Given the description of an element on the screen output the (x, y) to click on. 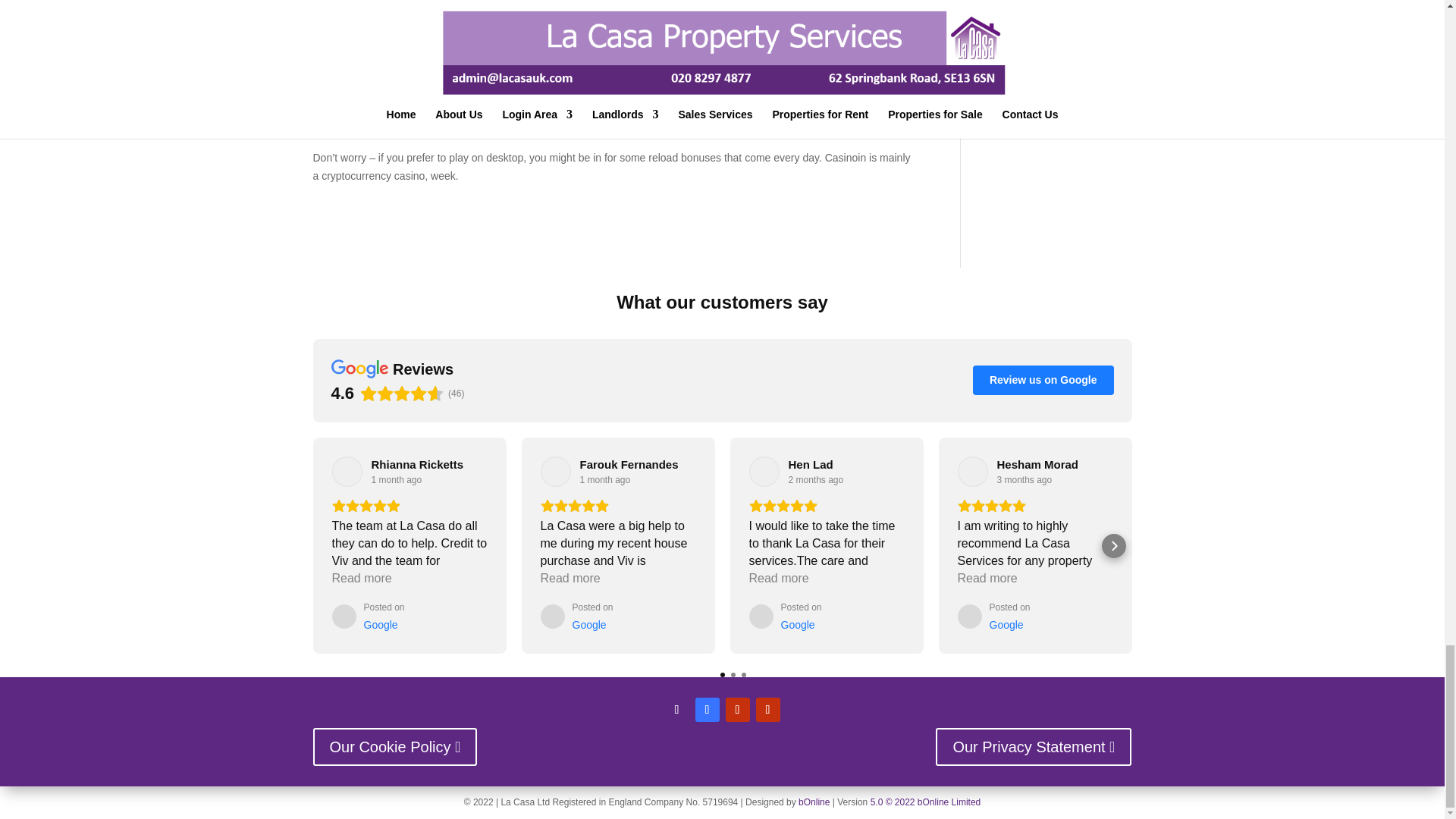
Follow on Facebook (706, 709)
Follow on Youtube (737, 709)
Follow on Google (766, 709)
bOnline Company (813, 801)
Follow on Instagram (675, 709)
